Given the description of an element on the screen output the (x, y) to click on. 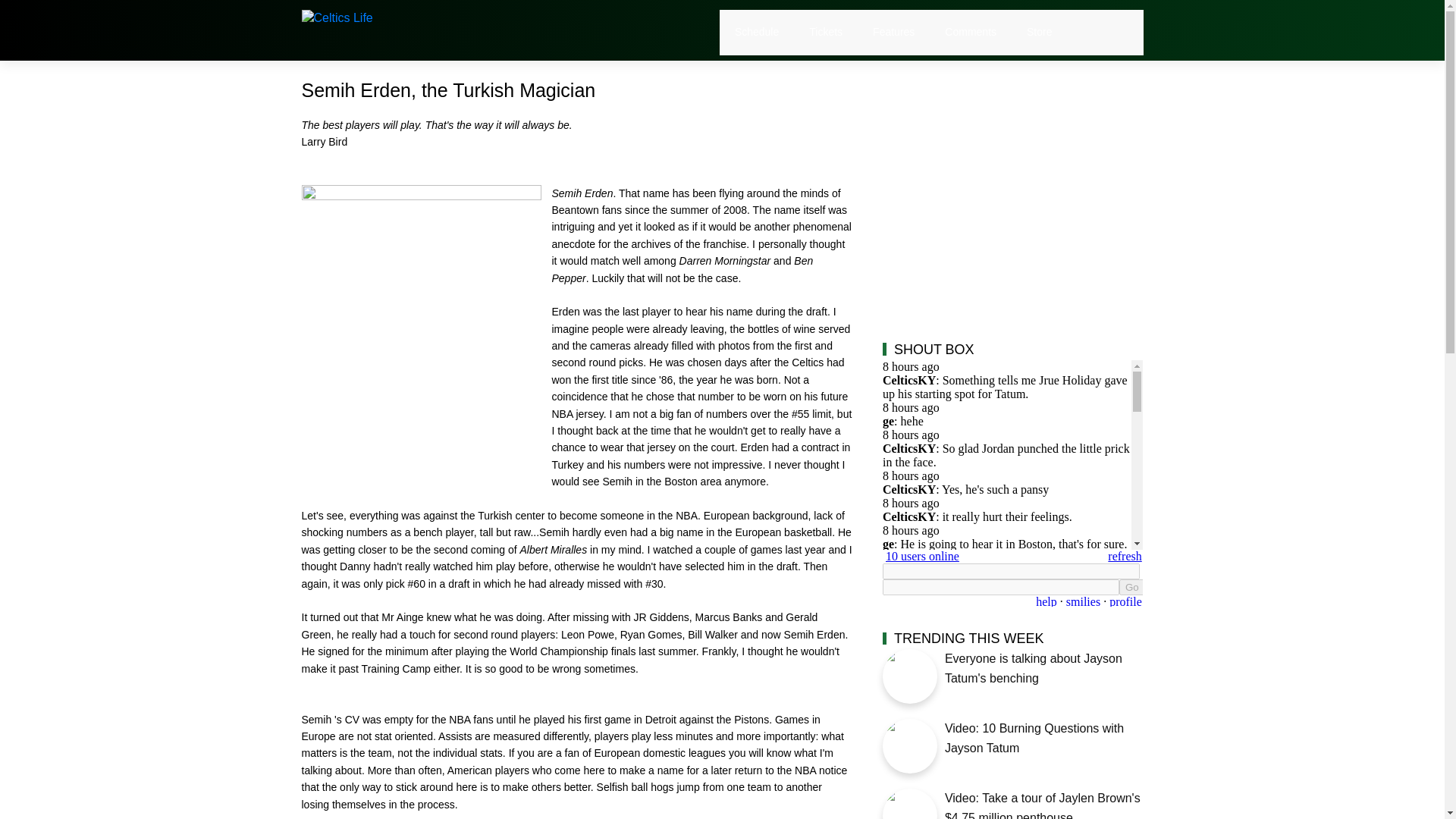
Comments (969, 32)
Features (893, 32)
Schedule (756, 32)
Advertisement (1012, 184)
